Given the description of an element on the screen output the (x, y) to click on. 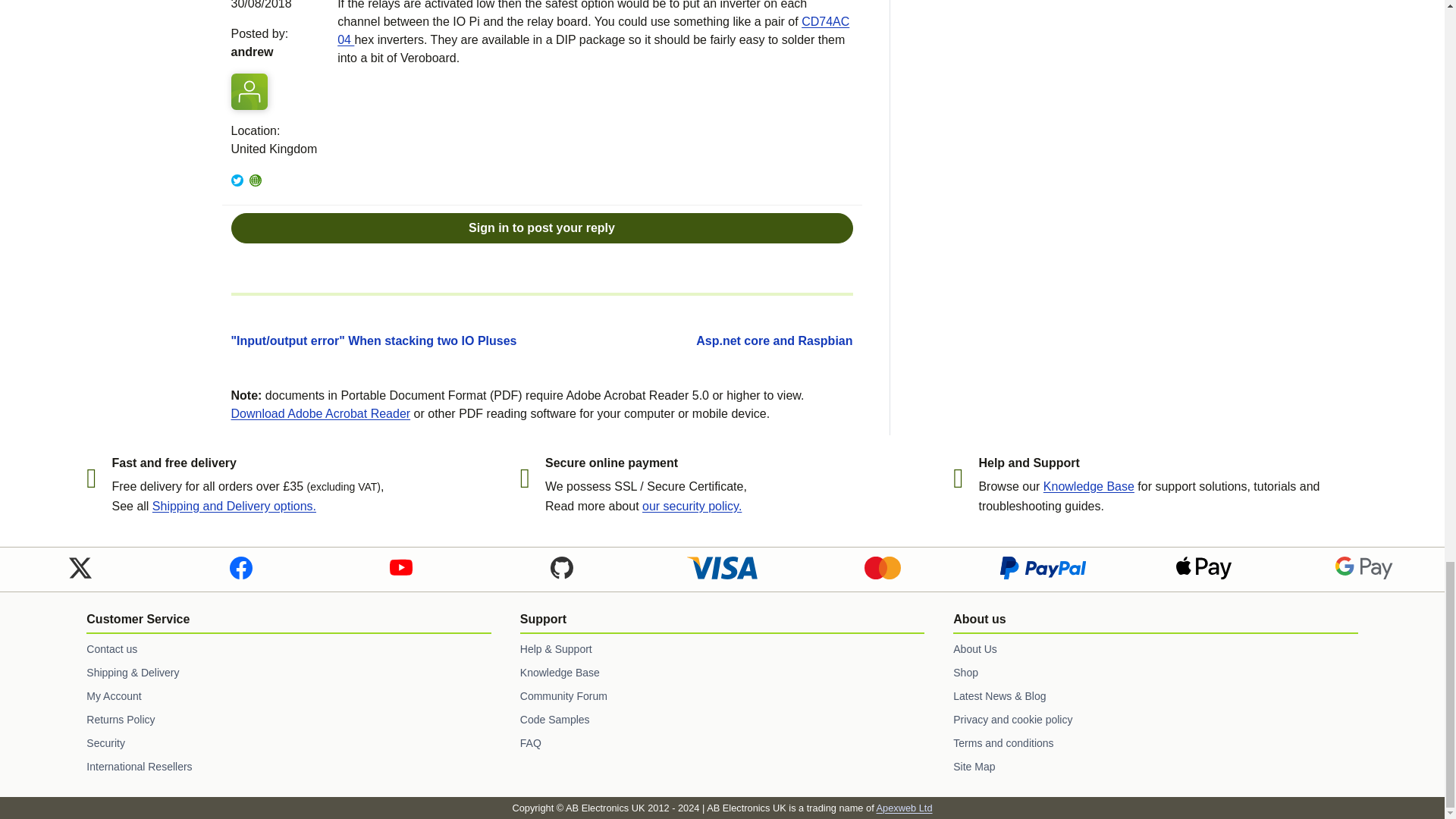
Mastercard (882, 567)
Visit us on Facebook (239, 566)
Visit us on Youtube (401, 566)
International Resellers, ordering from the EU and USA (287, 766)
Apple Pay (1203, 567)
Visit us on Facebook (239, 567)
Visit us on X (79, 566)
View your orders and details (287, 696)
Visit us on X (79, 567)
Visit us on Youtube (401, 567)
